Given the description of an element on the screen output the (x, y) to click on. 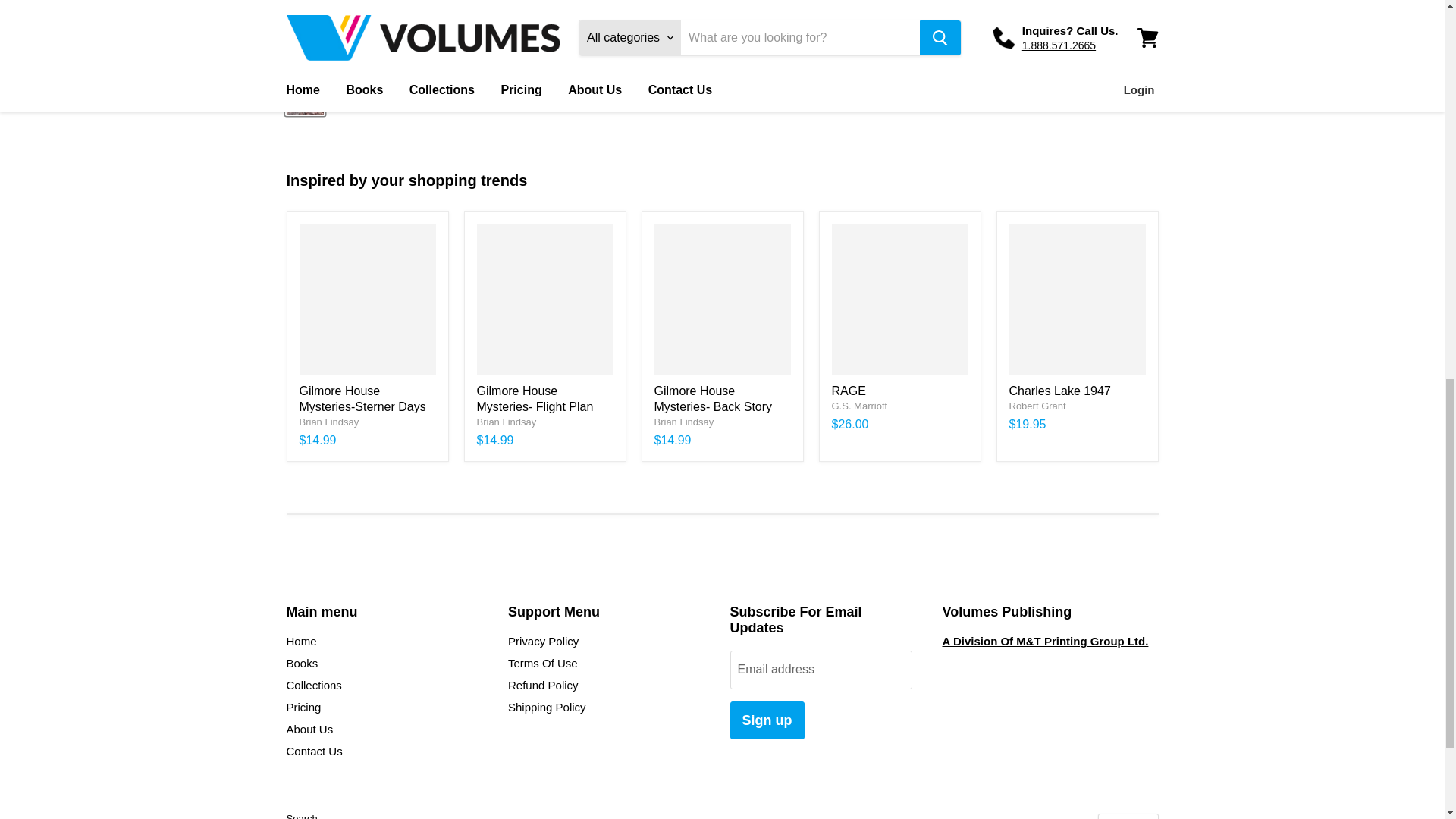
Robert Grant (1037, 405)
Brian Lindsay (328, 421)
Gilmore House Mysteries-Sterner Days (361, 398)
Brian Lindsay (505, 421)
Brian Lindsay (683, 421)
G.S. Marriott (858, 405)
Click to expand (676, 21)
